Given the description of an element on the screen output the (x, y) to click on. 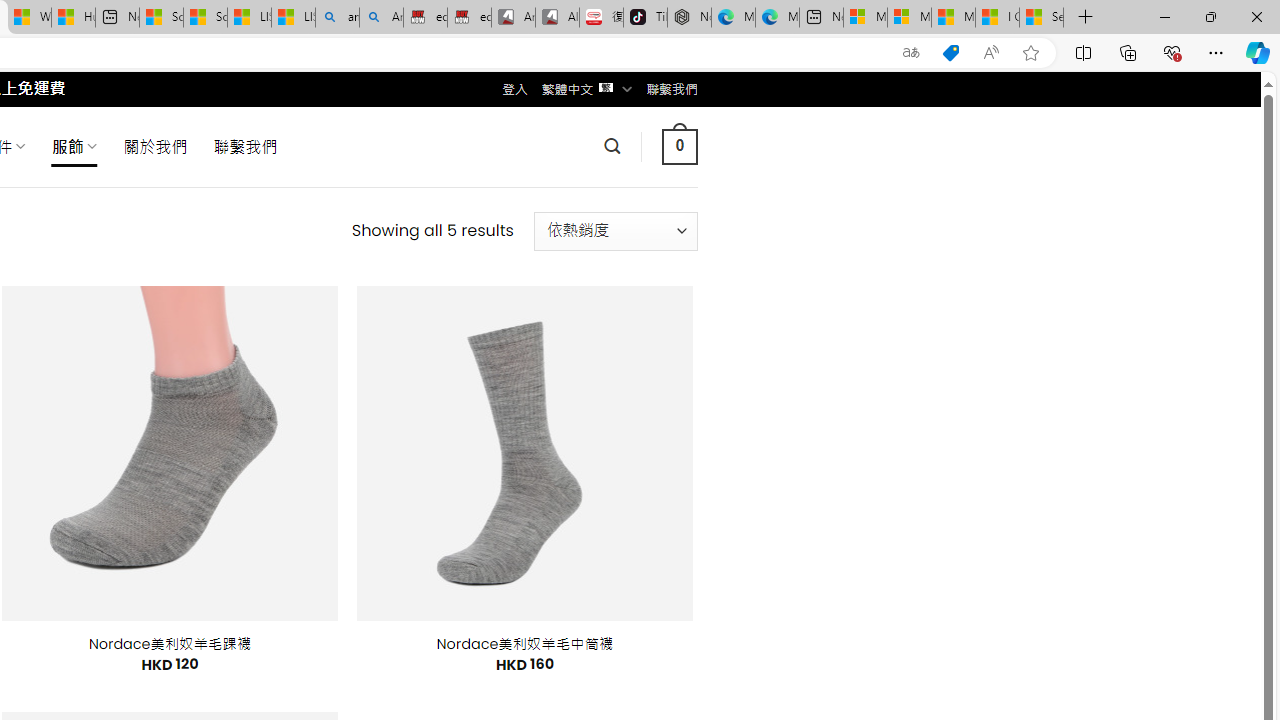
This site has coupons! Shopping in Microsoft Edge (950, 53)
I Gained 20 Pounds of Muscle in 30 Days! | Watch (996, 17)
